Given the description of an element on the screen output the (x, y) to click on. 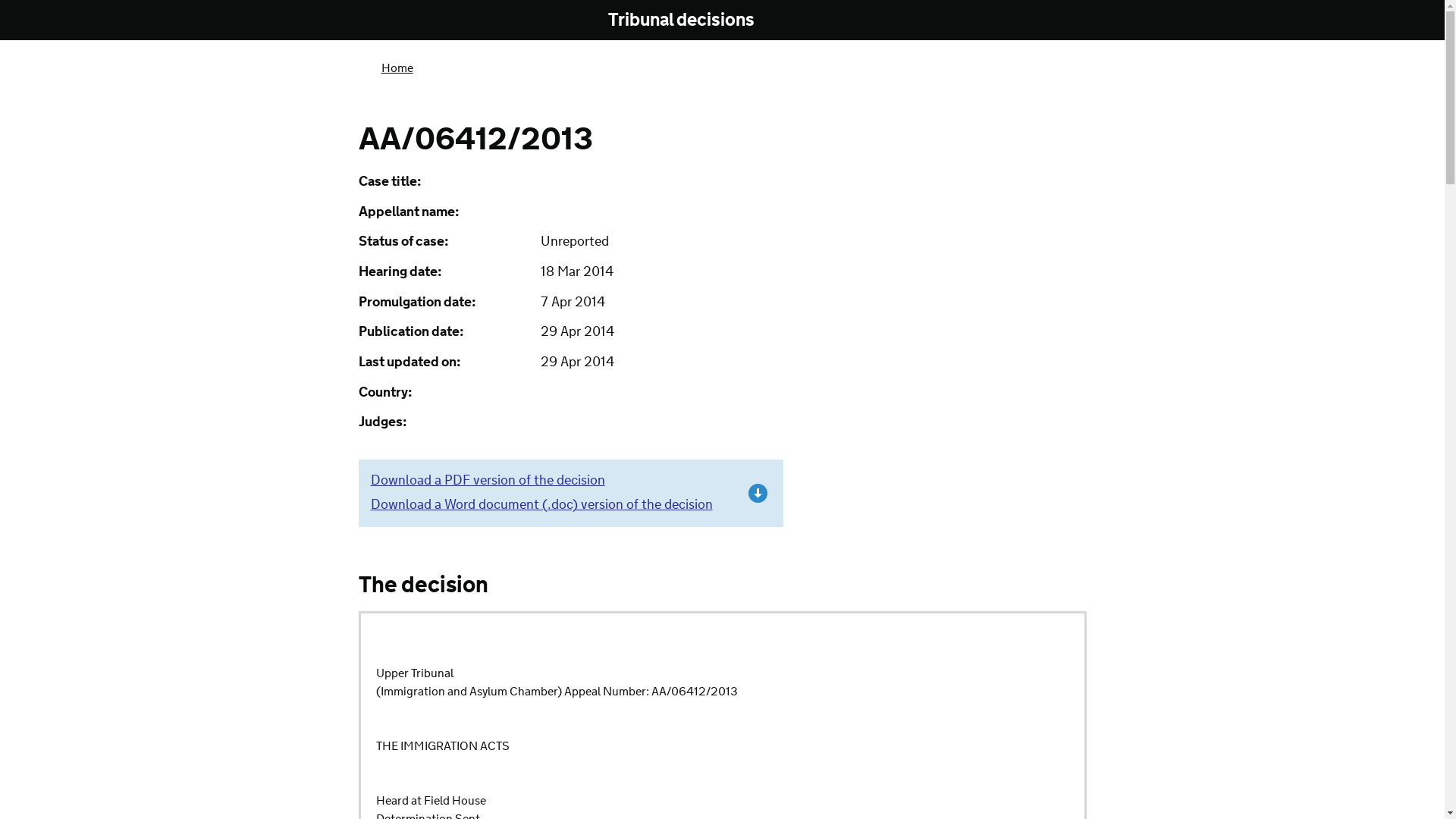
Go to the GOV.UK homepage (420, 20)
Home (396, 68)
Tribunal decisions (691, 20)
Download a PDF version of the decision (486, 480)
